Given the description of an element on the screen output the (x, y) to click on. 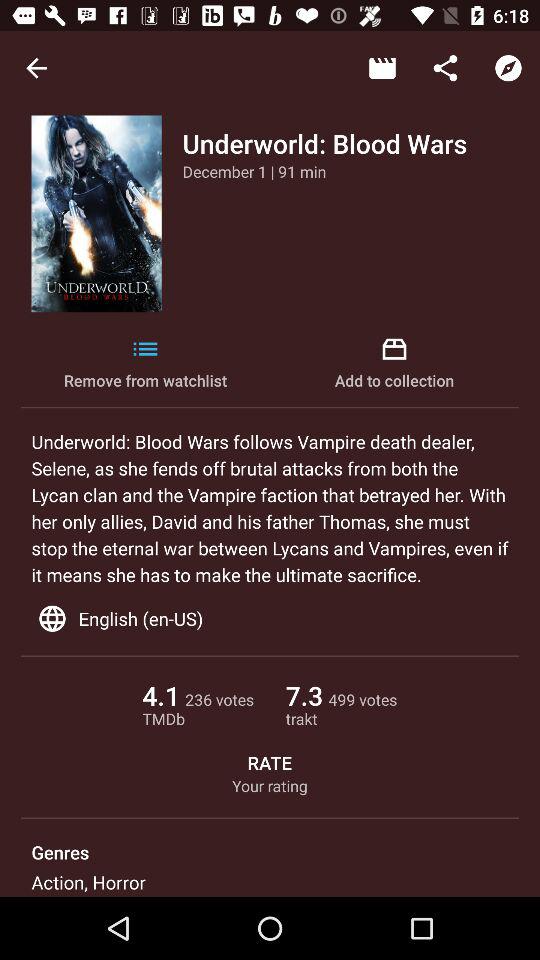
scroll to action, horror item (88, 882)
